Given the description of an element on the screen output the (x, y) to click on. 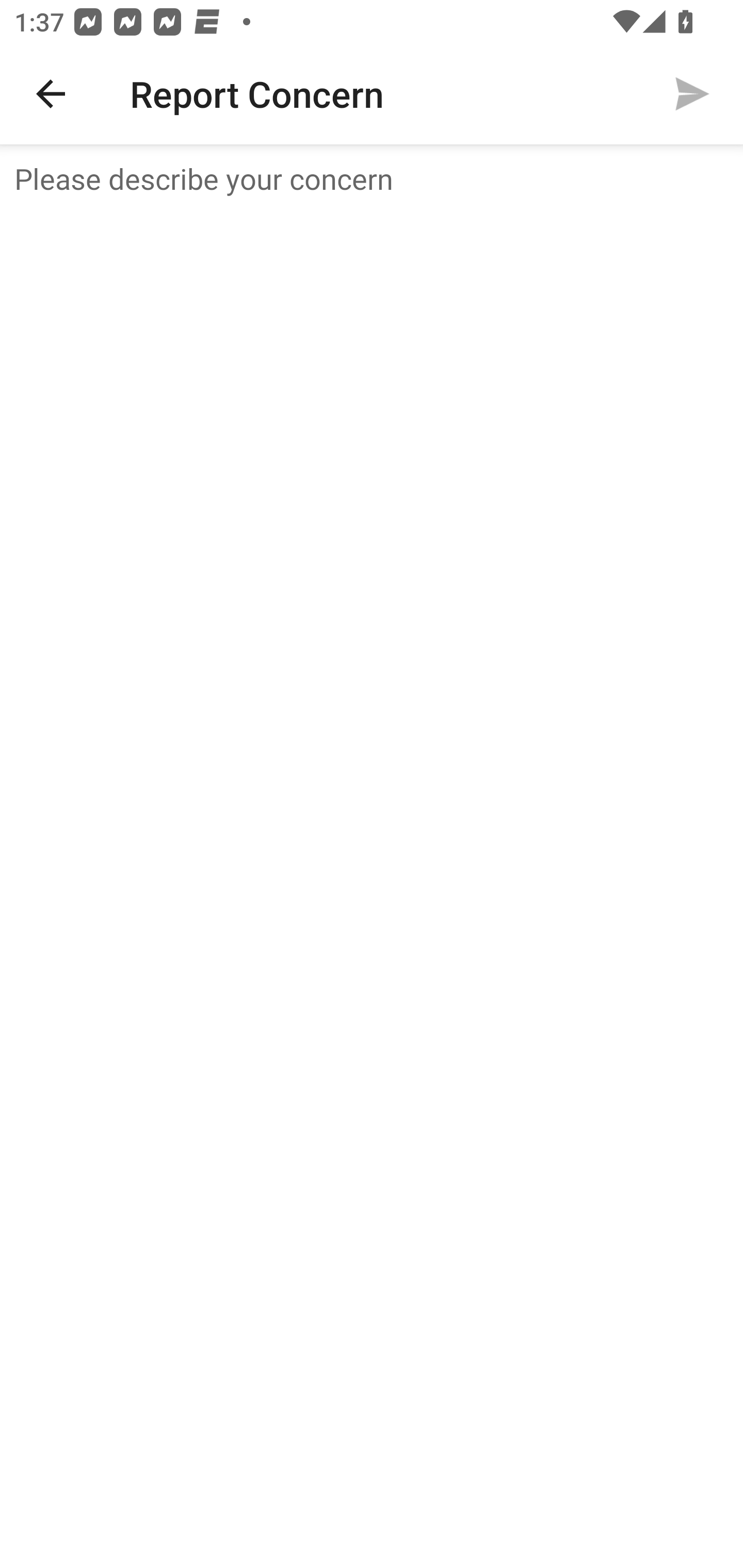
Navigate up (50, 93)
Send (692, 93)
